Given the description of an element on the screen output the (x, y) to click on. 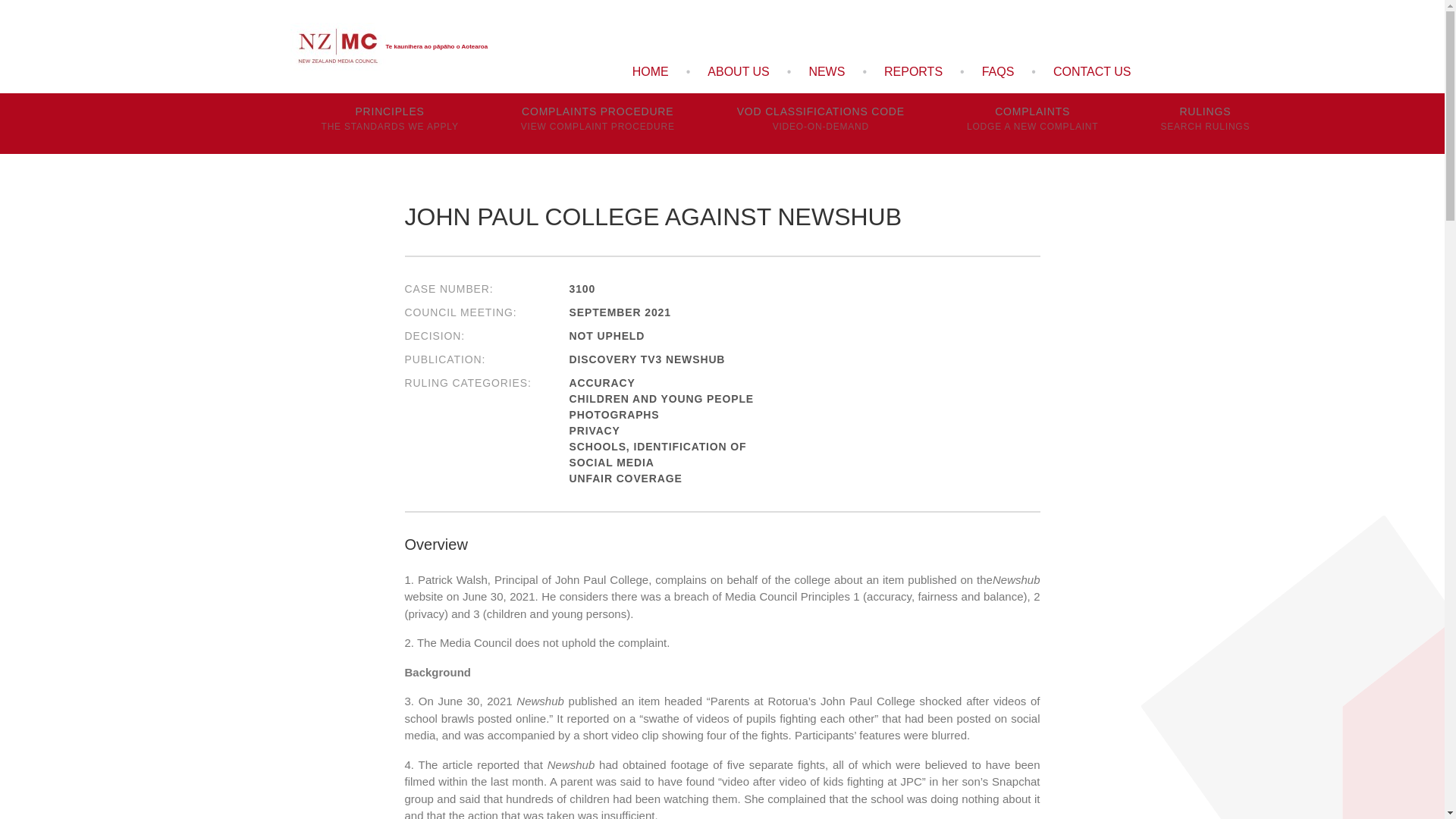
NEWS (826, 71)
Frequently Asked Questions (998, 71)
REPORTS (912, 71)
FAQS (998, 71)
ABOUT US (737, 71)
Get in touch (597, 123)
HOME (1092, 71)
About (650, 71)
back to homepage (737, 71)
back to homepage (650, 71)
CONTACT US (388, 46)
